Given the description of an element on the screen output the (x, y) to click on. 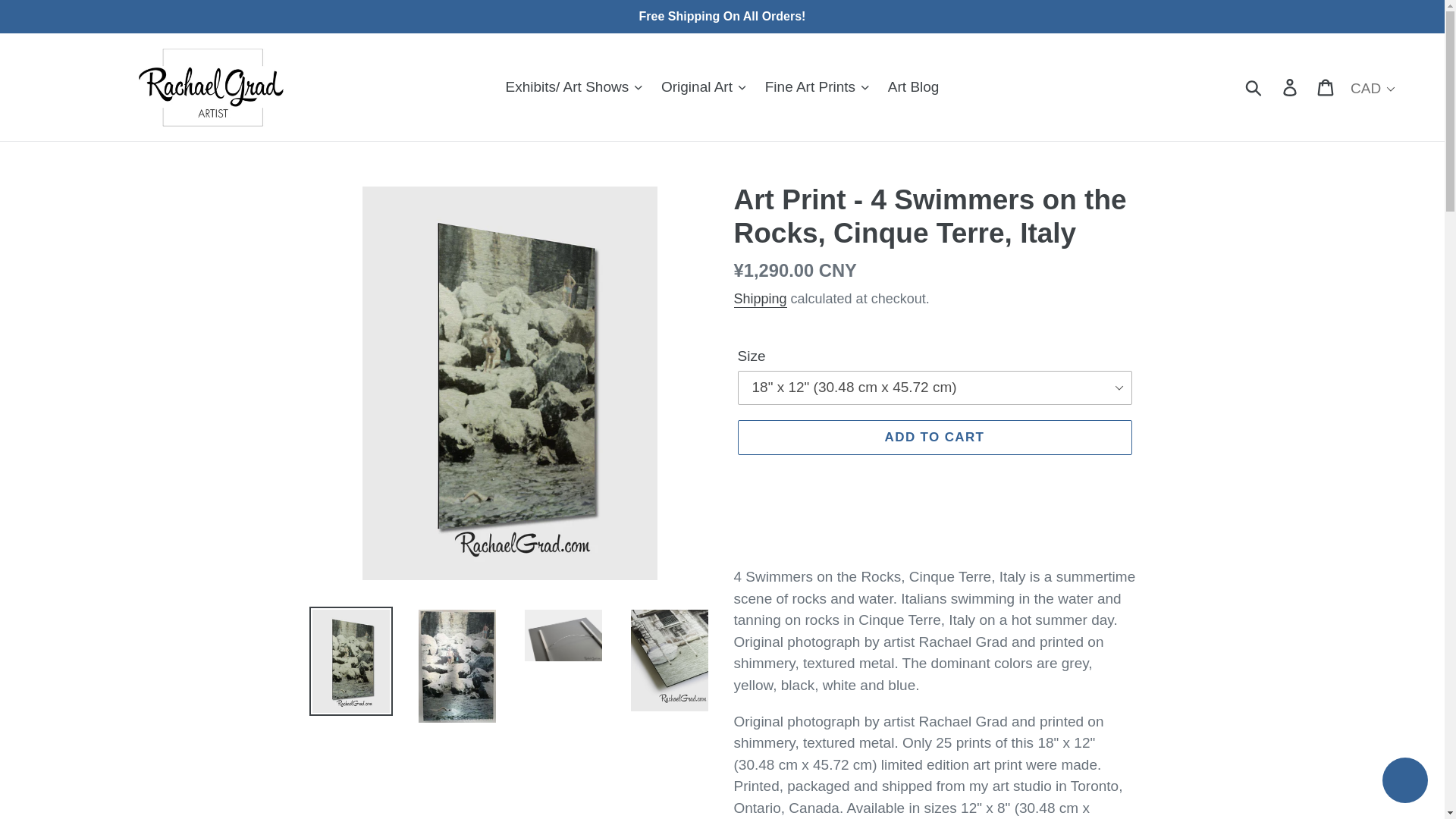
Log in (1290, 87)
Art Blog (913, 87)
Cart (1325, 87)
Submit (1254, 87)
Shopify online store chat (1404, 781)
